Given the description of an element on the screen output the (x, y) to click on. 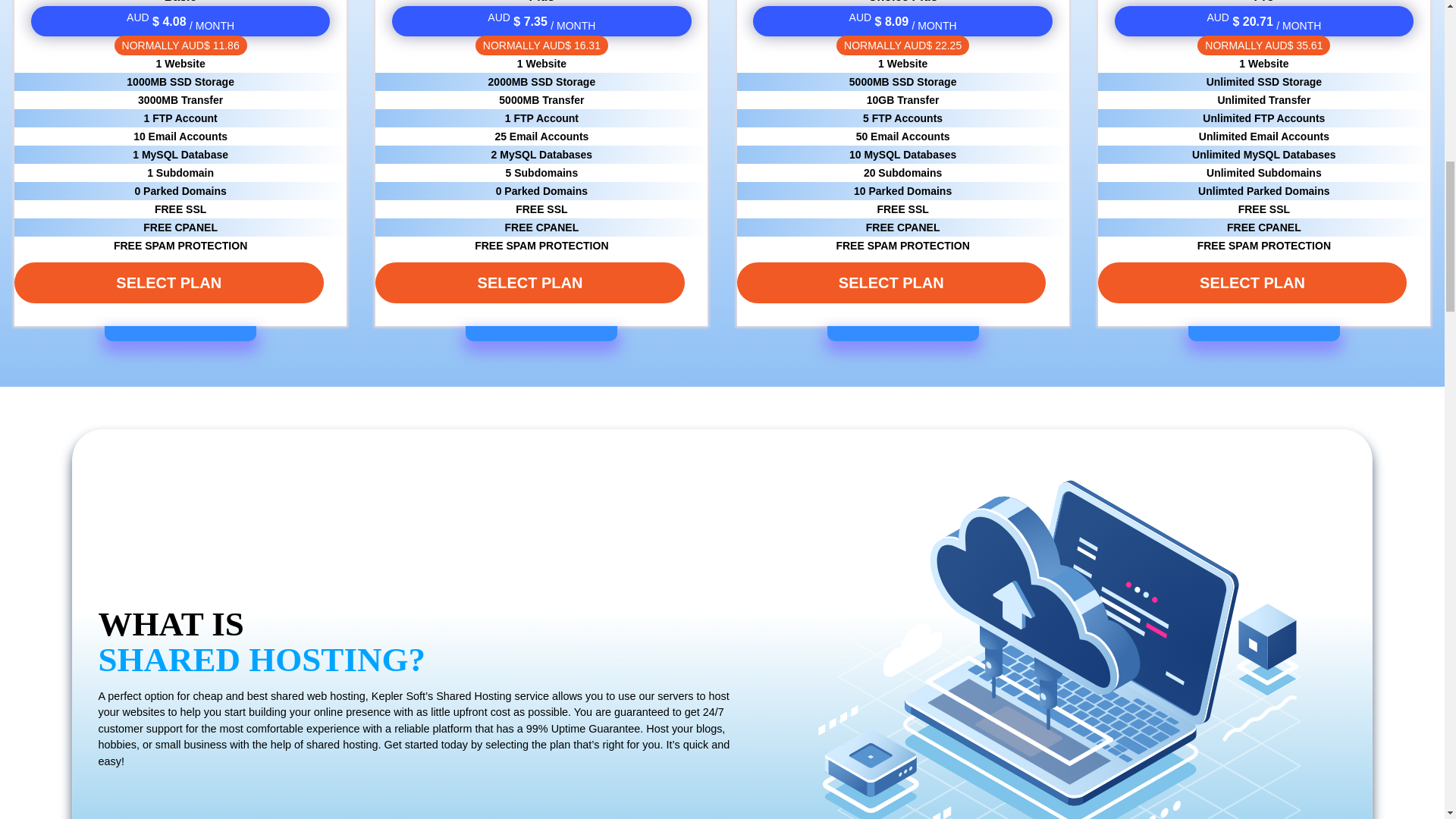
SELECT PLAN (529, 282)
SELECT PLAN (1251, 282)
SELECT PLAN (890, 282)
SELECT PLAN (168, 282)
